Given the description of an element on the screen output the (x, y) to click on. 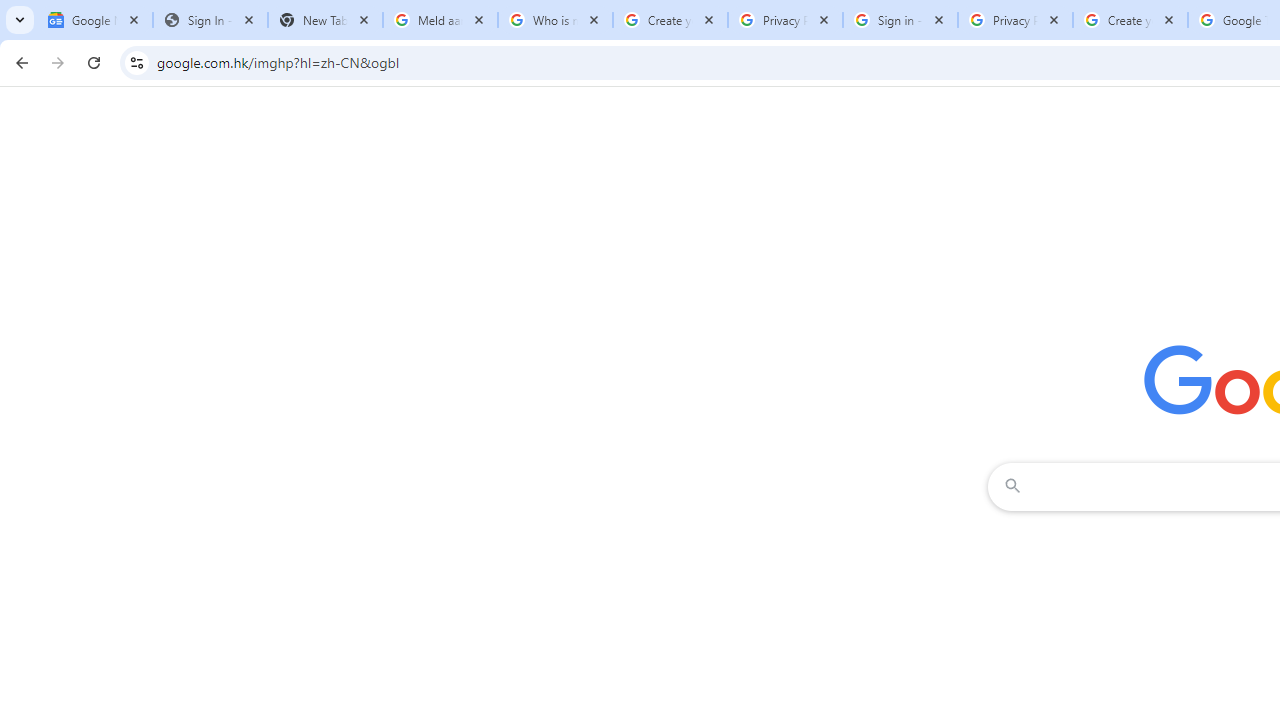
New Tab (324, 20)
Google News (95, 20)
Sign in - Google Accounts (900, 20)
Who is my administrator? - Google Account Help (555, 20)
Create your Google Account (1129, 20)
Sign In - USA TODAY (209, 20)
